Given the description of an element on the screen output the (x, y) to click on. 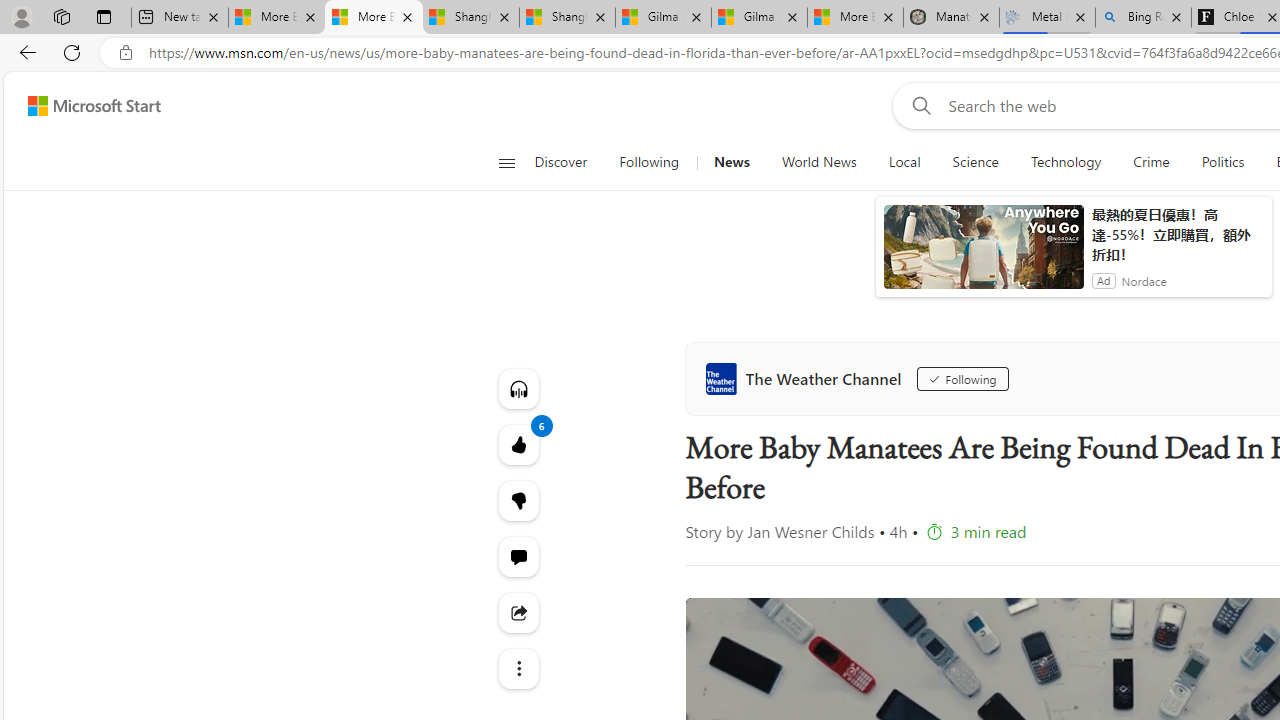
Local (904, 162)
News (731, 162)
Gilma and Hector both pose tropical trouble for Hawaii (759, 17)
World News (818, 162)
See more (517, 668)
Following (649, 162)
Discover (568, 162)
Manatee Mortality Statistics | FWC (951, 17)
Open navigation menu (506, 162)
Web search (917, 105)
Listen to this article (517, 388)
Technology (1065, 162)
Science (975, 162)
See more (517, 668)
